Given the description of an element on the screen output the (x, y) to click on. 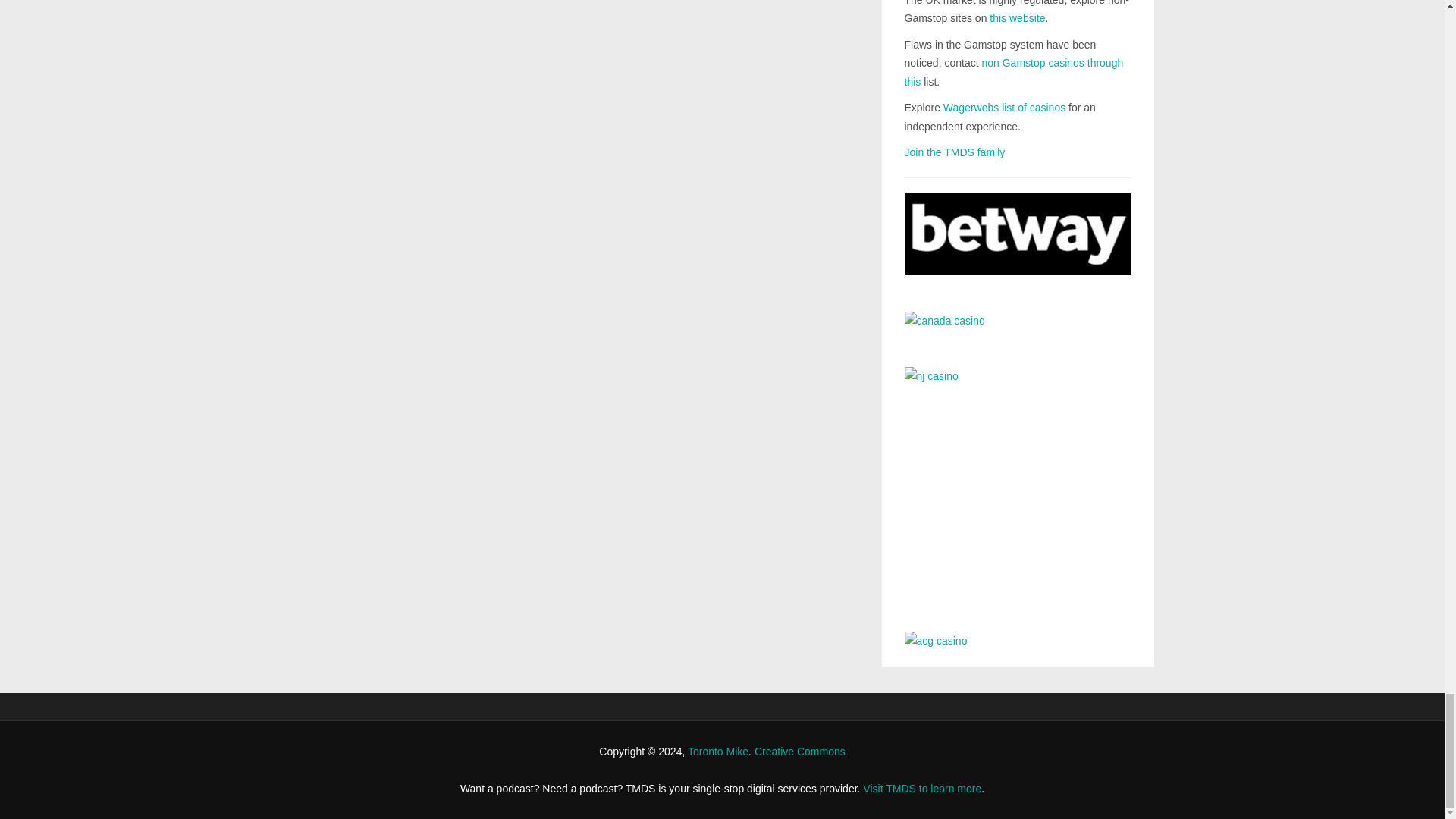
acg casino (1017, 640)
nj casino (1017, 487)
canada casino (1017, 328)
